Given the description of an element on the screen output the (x, y) to click on. 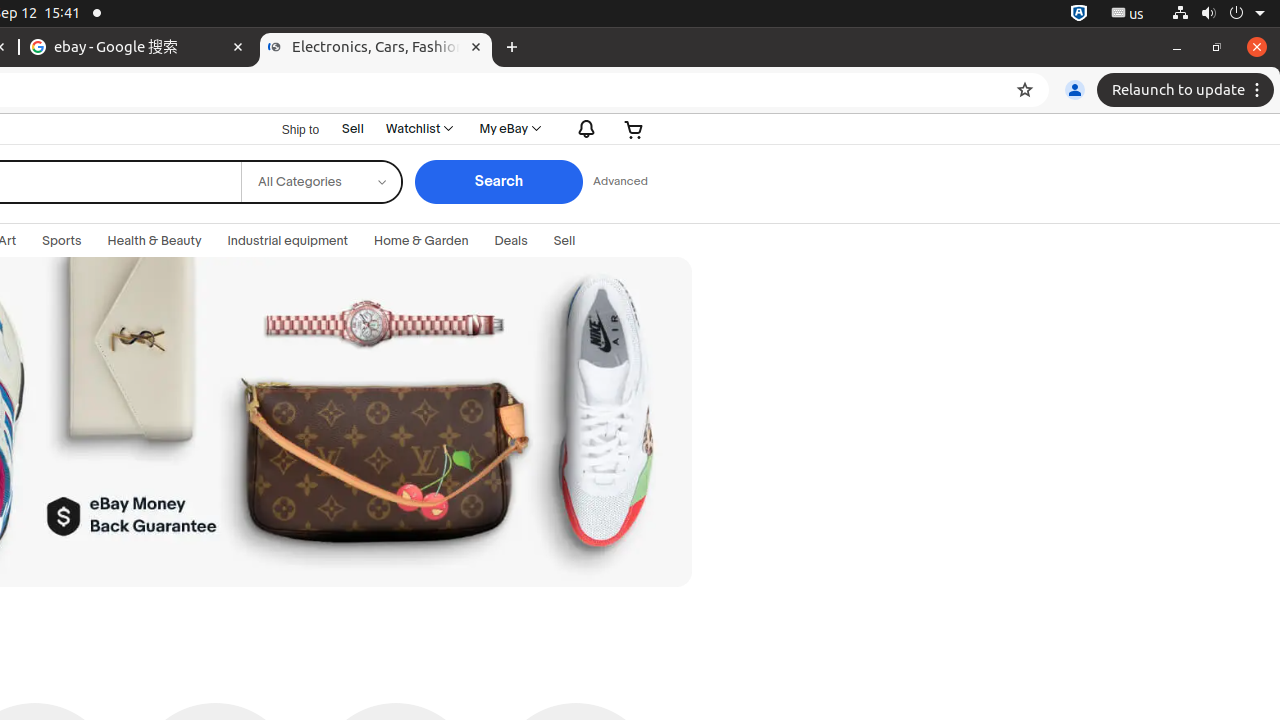
Sell Element type: link (353, 128)
Notifications Element type: push-button (582, 128)
